Given the description of an element on the screen output the (x, y) to click on. 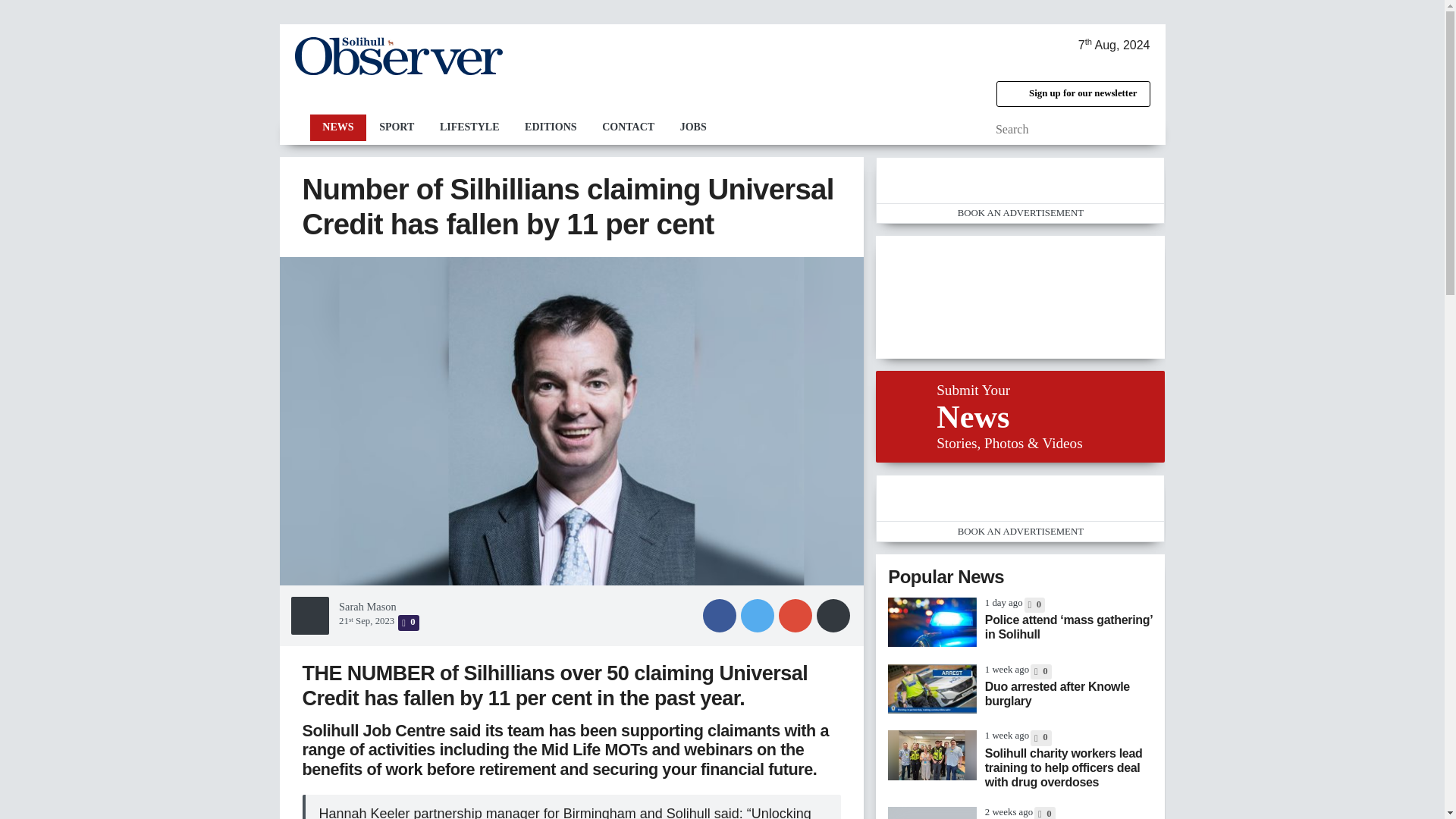
EDITIONS (550, 127)
Sarah Mason (367, 606)
CONTACT (627, 127)
LIFESTYLE (469, 127)
The Solihull Observer (398, 55)
  Sign up for our newsletter (1072, 94)
NEWS (337, 127)
SPORT (396, 127)
JOBS (692, 127)
